Given the description of an element on the screen output the (x, y) to click on. 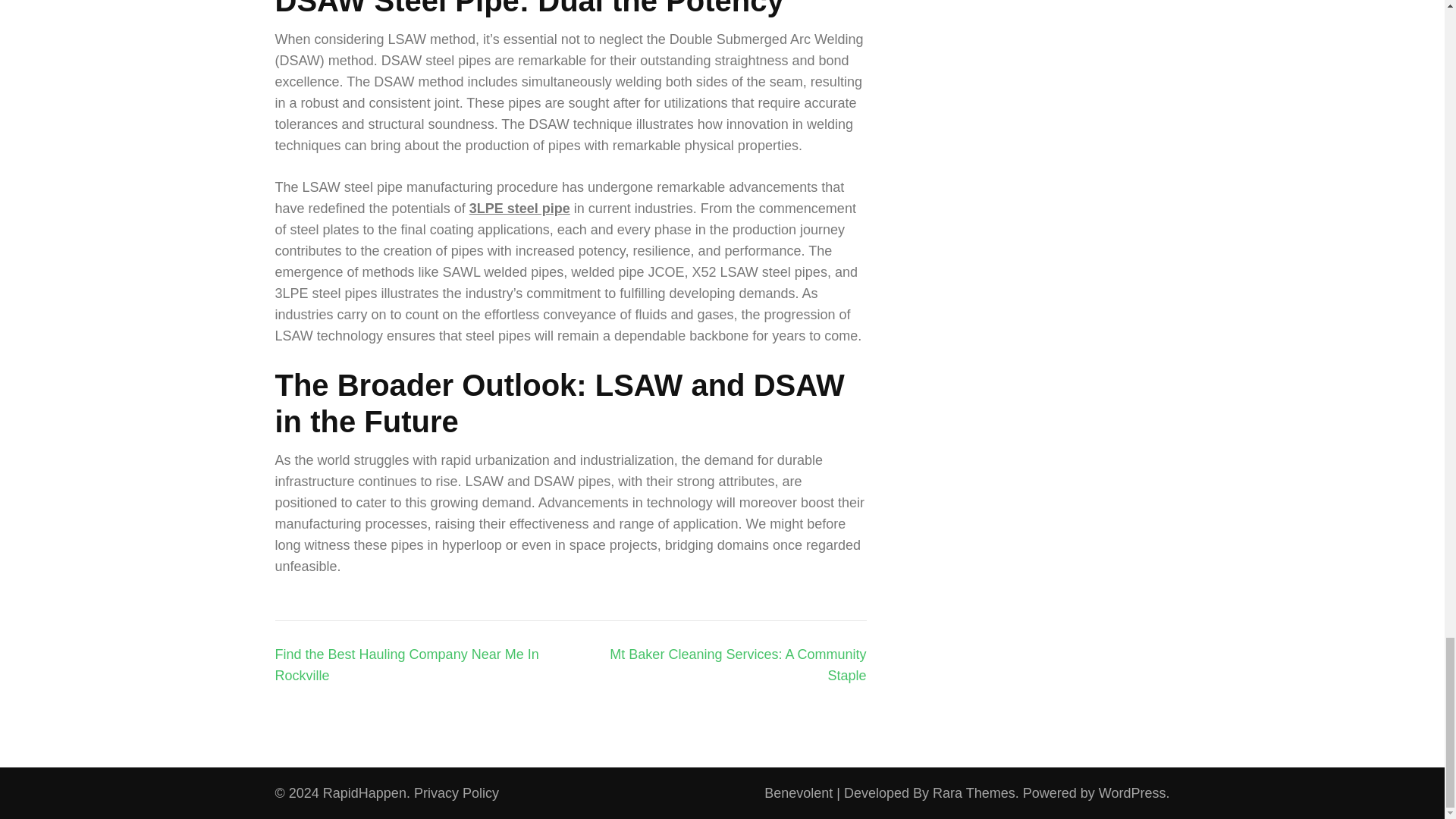
Mt Baker Cleaning Services: A Community Staple (738, 665)
3LPE steel pipe (519, 208)
Find the Best Hauling Company Near Me In Rockville (406, 665)
